Given the description of an element on the screen output the (x, y) to click on. 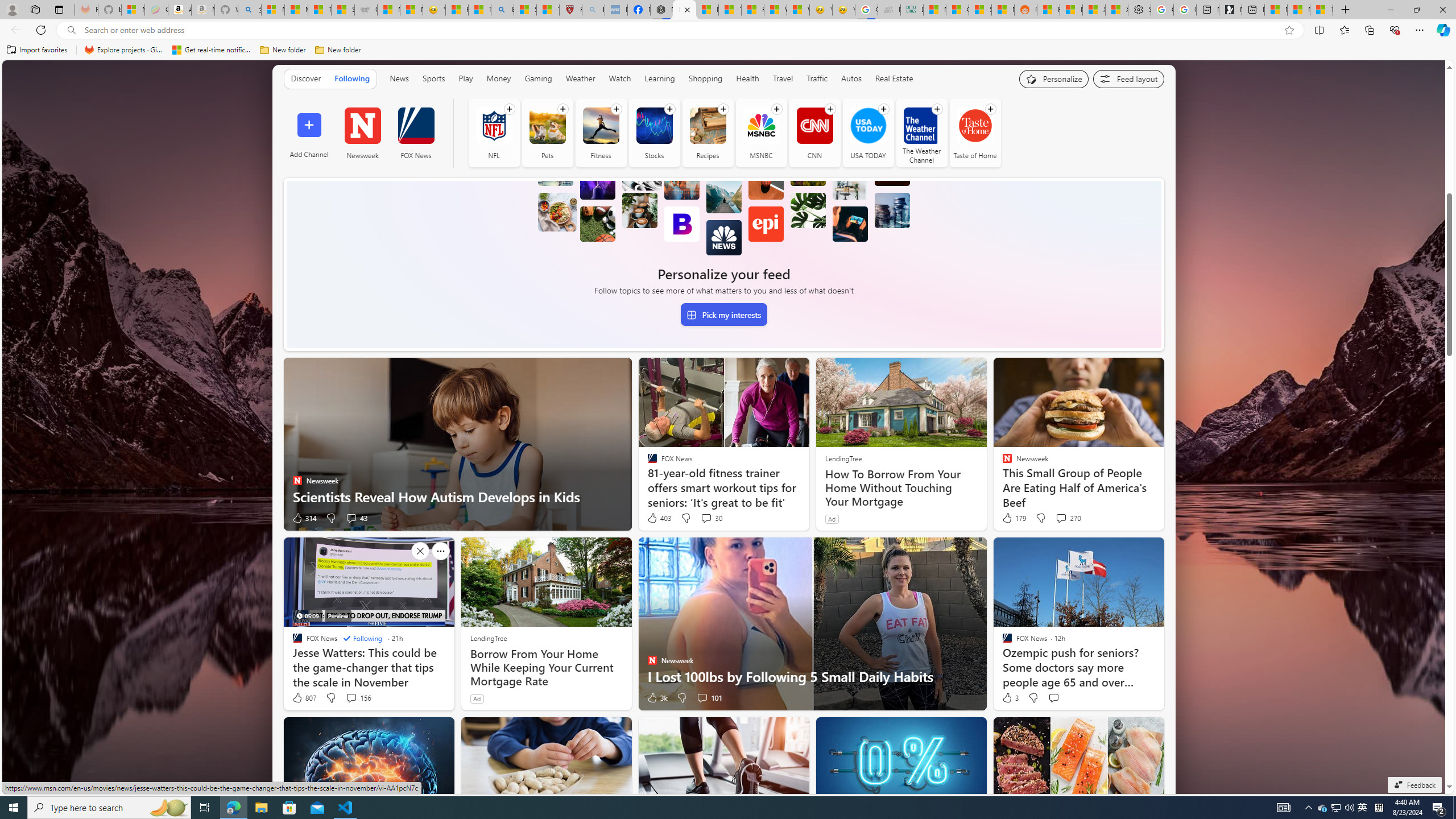
The Weather Channel (921, 133)
Taste of Home (974, 125)
These 3 Stocks Pay You More Than 5% to Own Them (1321, 9)
Stocks (654, 125)
R******* | Trusted Community Engagement and Contributions (1048, 9)
MSNBC (761, 125)
Personalize your feed" (1054, 78)
View comments 43 Comment (350, 518)
807 Like (303, 697)
